Given the description of an element on the screen output the (x, y) to click on. 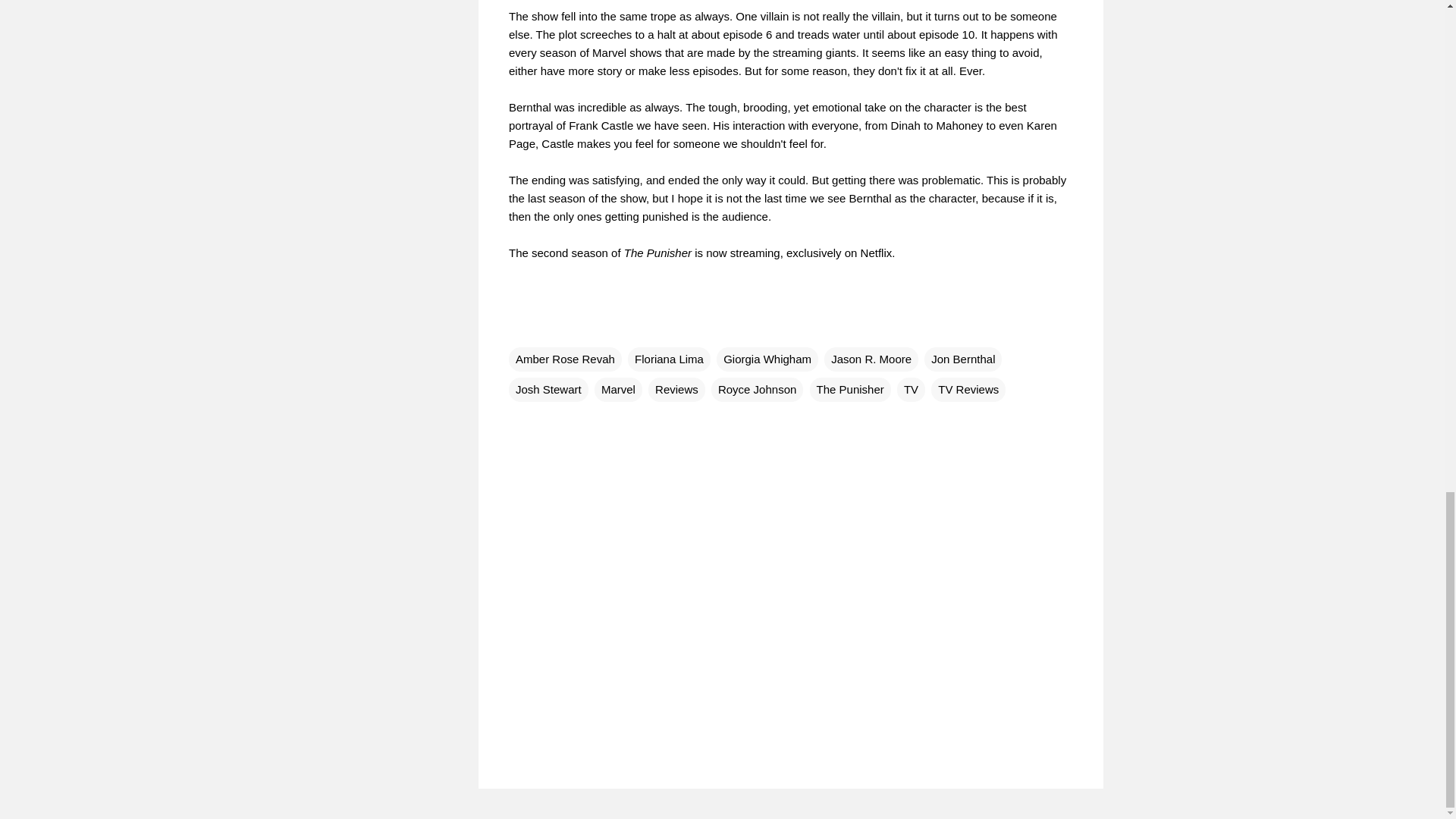
Jason R. Moore (871, 358)
Amber Rose Revah (564, 358)
Marvel (618, 388)
The Punisher (850, 388)
Giorgia Whigham (767, 358)
Floriana Lima (668, 358)
Josh Stewart (548, 388)
TV Reviews (968, 388)
Email Post (517, 328)
Royce Johnson (757, 388)
